Given the description of an element on the screen output the (x, y) to click on. 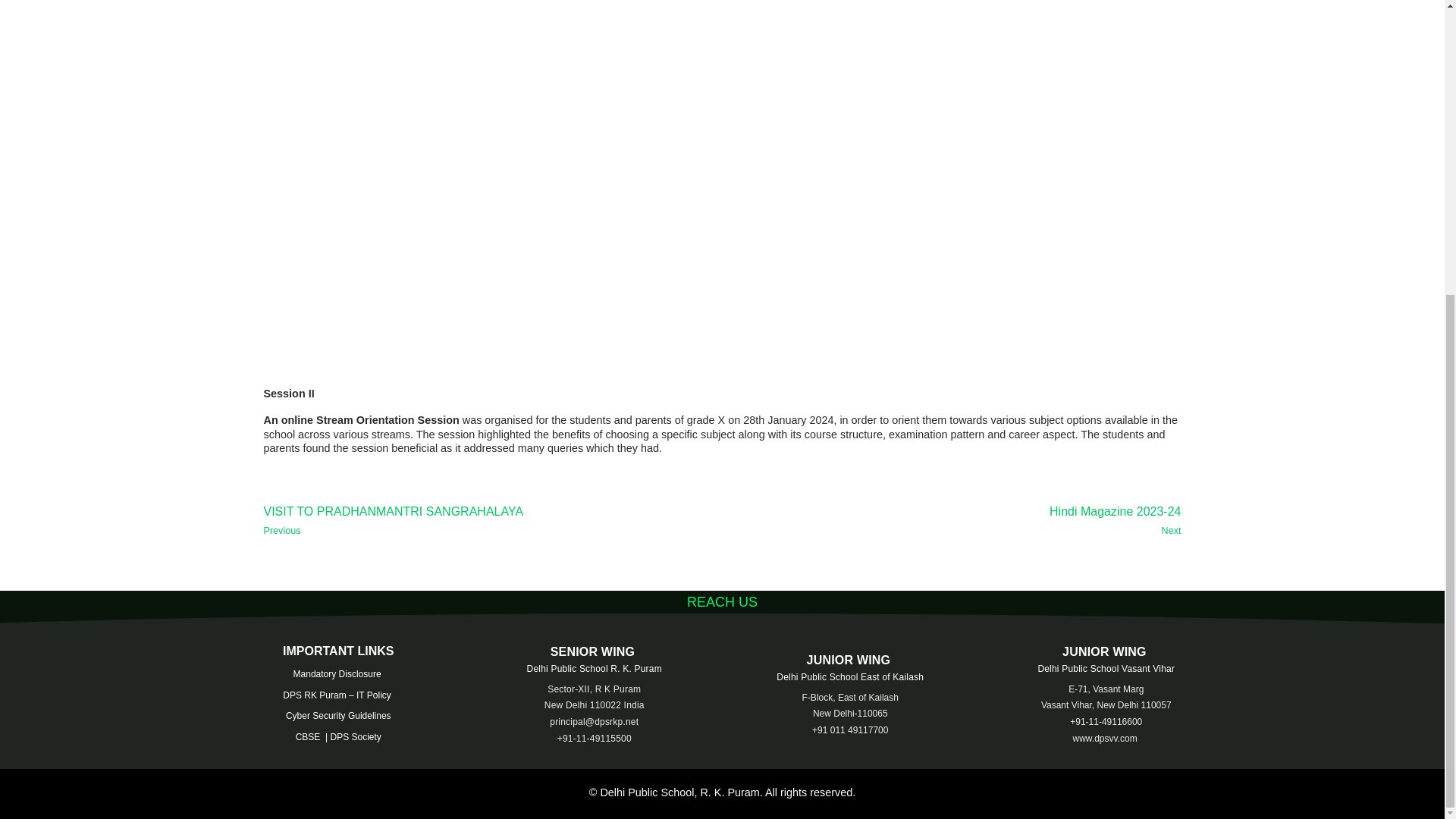
VISIT TO PRADHANMANTRI SANGRAHALAYA (486, 520)
Hindi Magazine 2023-24 (957, 520)
